Given the description of an element on the screen output the (x, y) to click on. 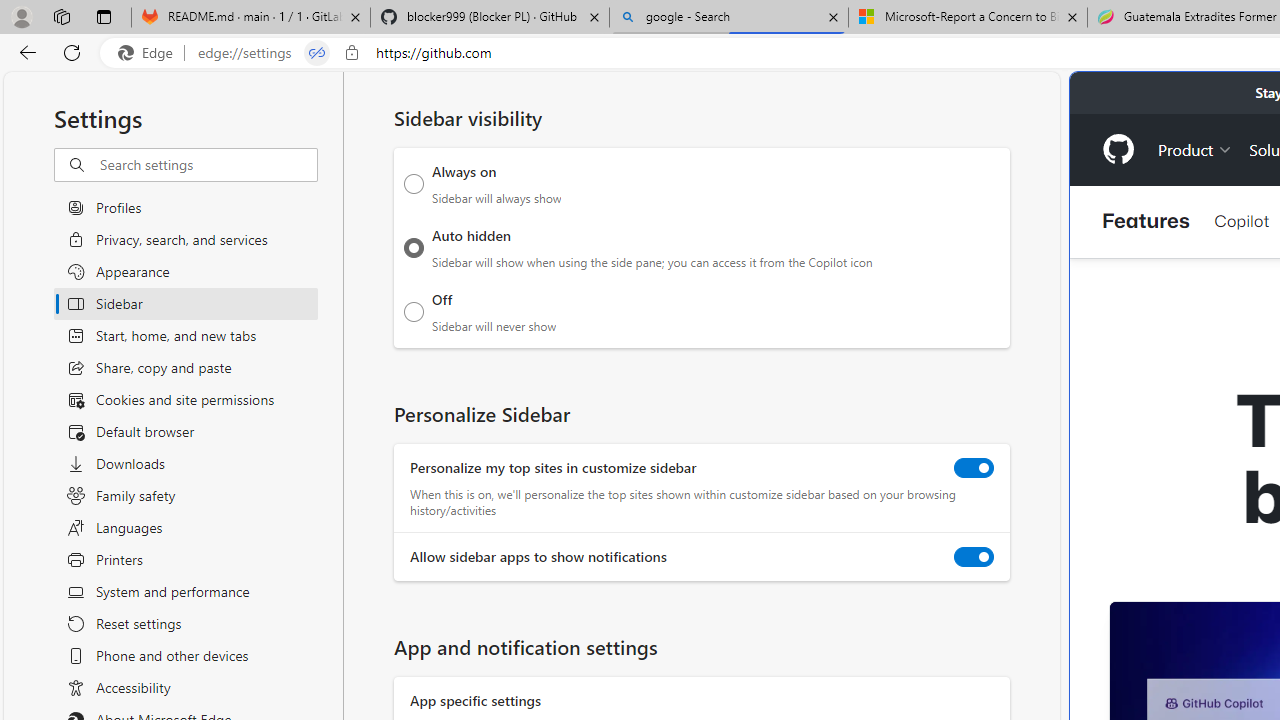
Personalize my top sites in customize sidebar (973, 467)
Allow sidebar apps to show notifications (973, 557)
Search settings (207, 165)
Copilot (1241, 220)
Features (1146, 221)
